Given the description of an element on the screen output the (x, y) to click on. 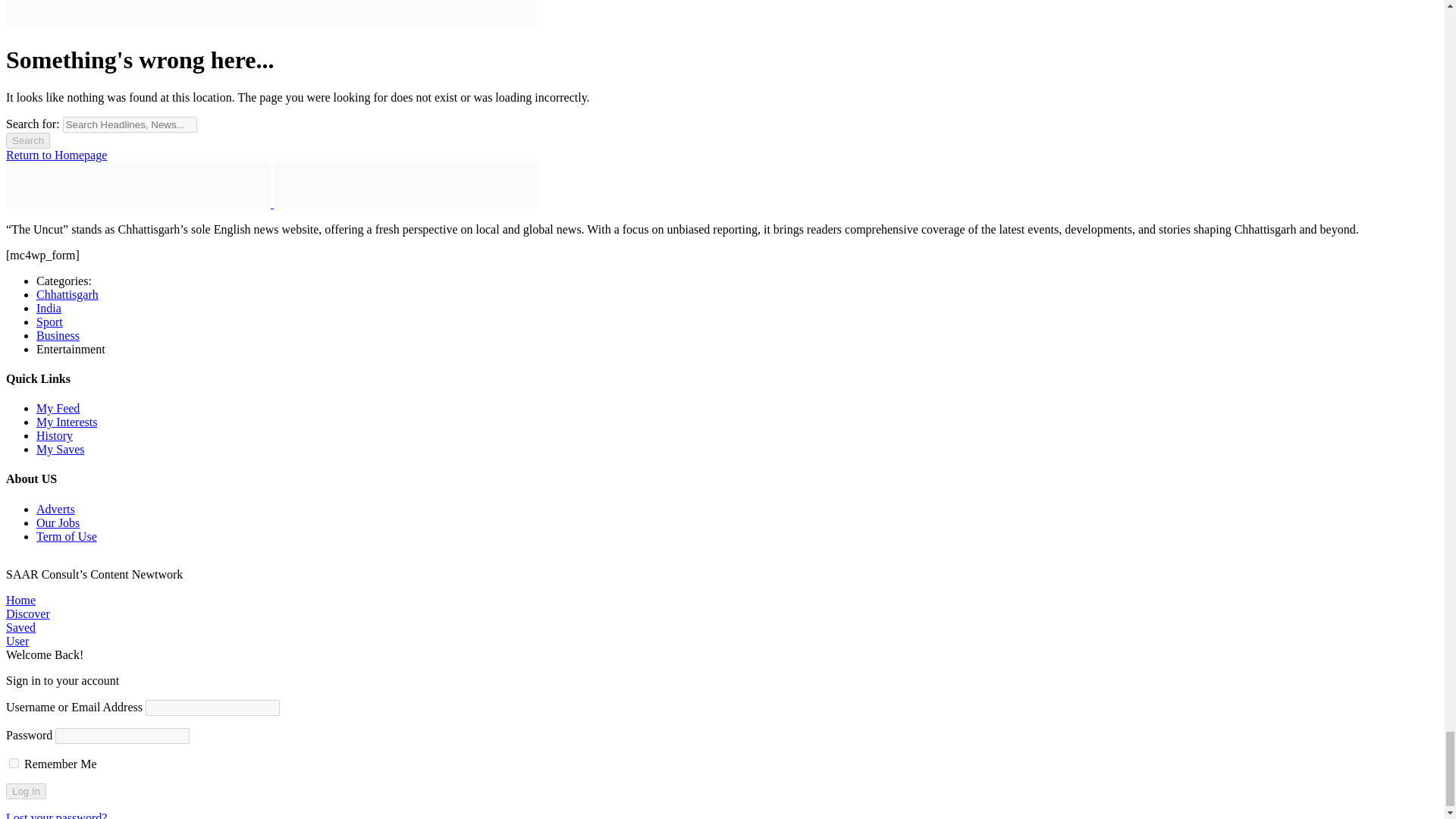
Search (27, 140)
Return to Homepage (55, 154)
forever (13, 763)
Log In (25, 790)
Search (27, 140)
